Given the description of an element on the screen output the (x, y) to click on. 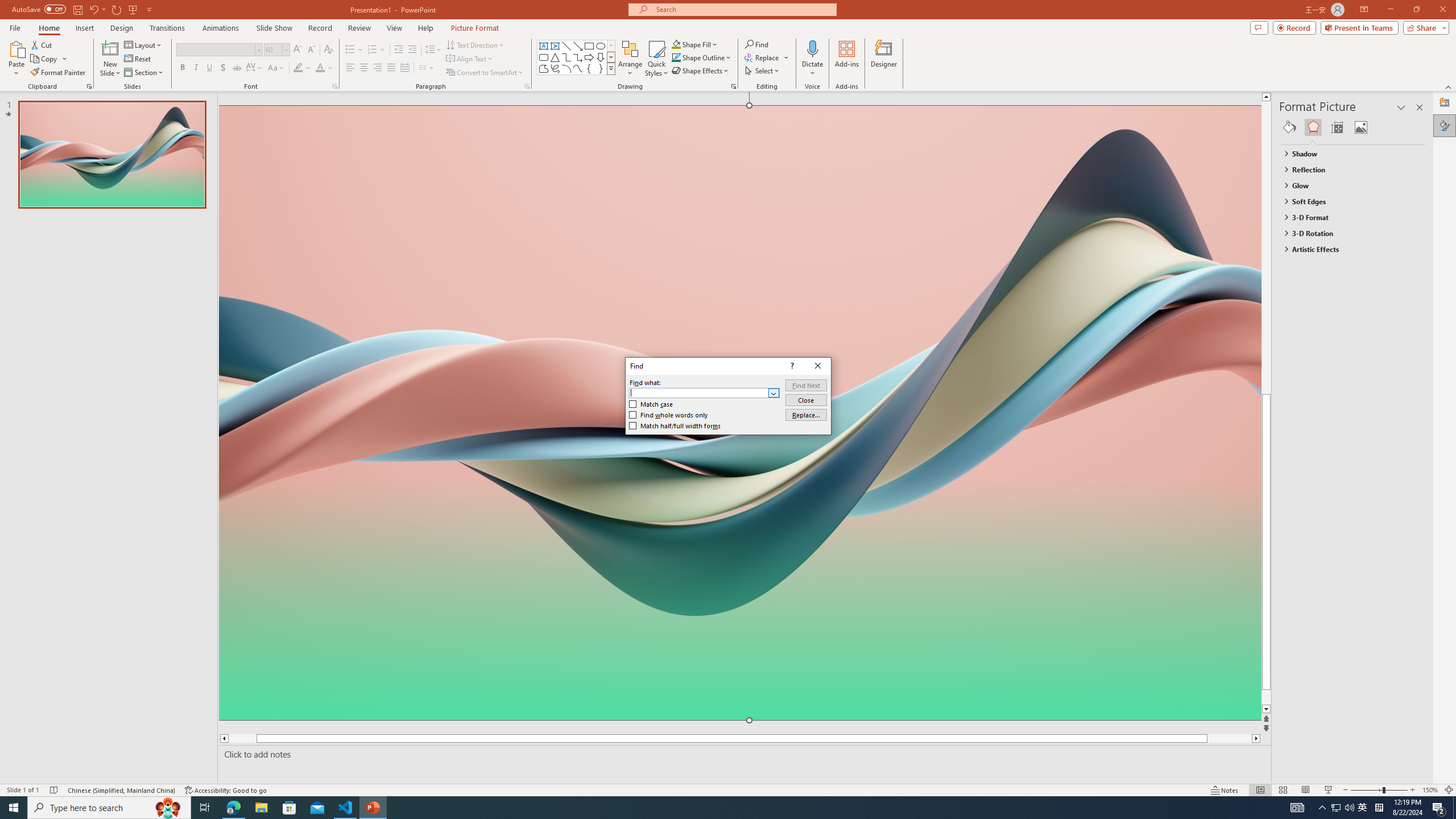
Class: NetUIScrollBar (1420, 460)
Fill & Line (1288, 126)
